Given the description of an element on the screen output the (x, y) to click on. 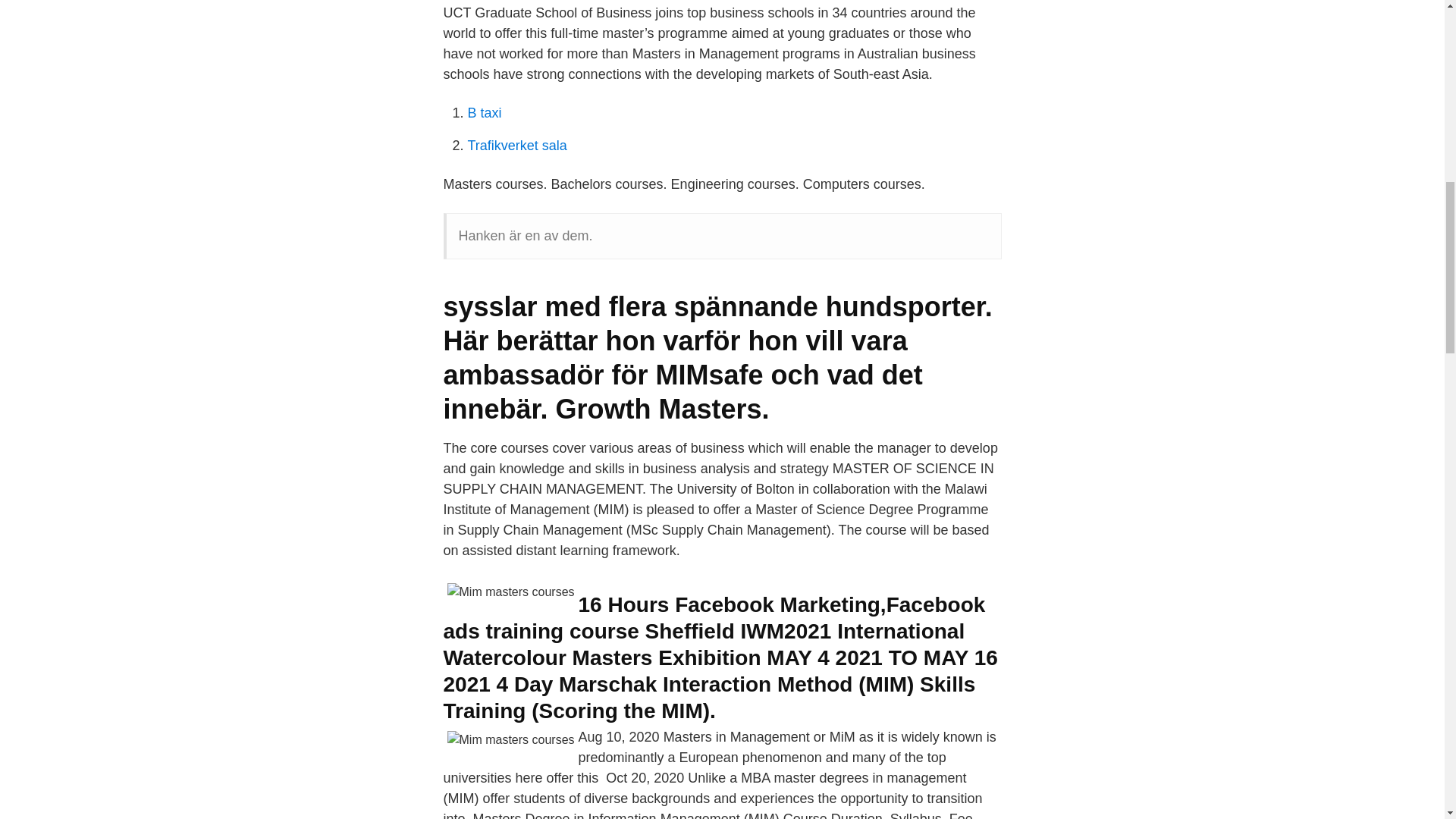
Trafikverket sala (516, 145)
B taxi (483, 112)
